Given the description of an element on the screen output the (x, y) to click on. 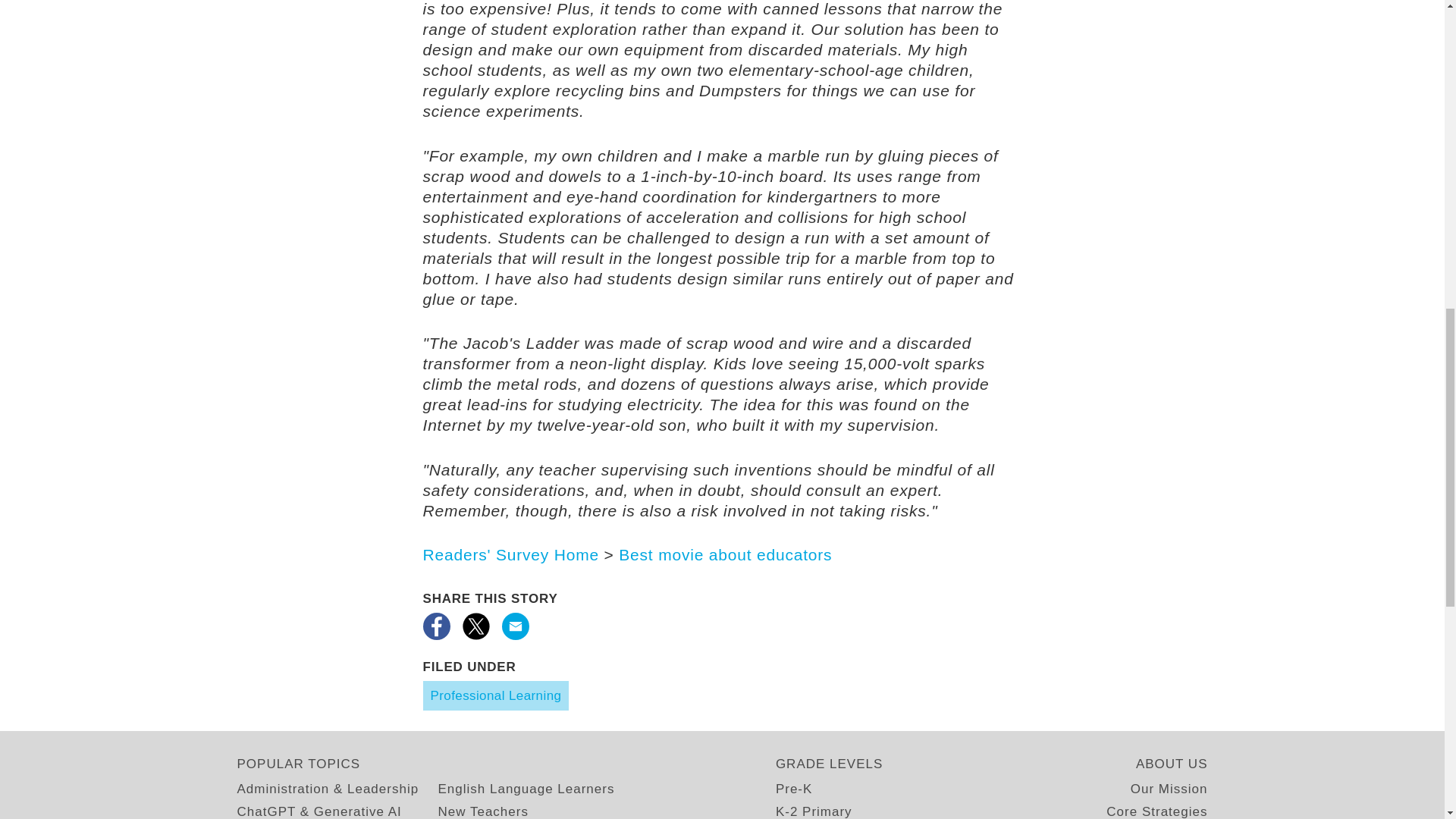
Readers' Survey Home (510, 554)
Best movie about educators (724, 554)
English Language Learners (526, 788)
Professional Learning (496, 695)
New Teachers (483, 810)
